Given the description of an element on the screen output the (x, y) to click on. 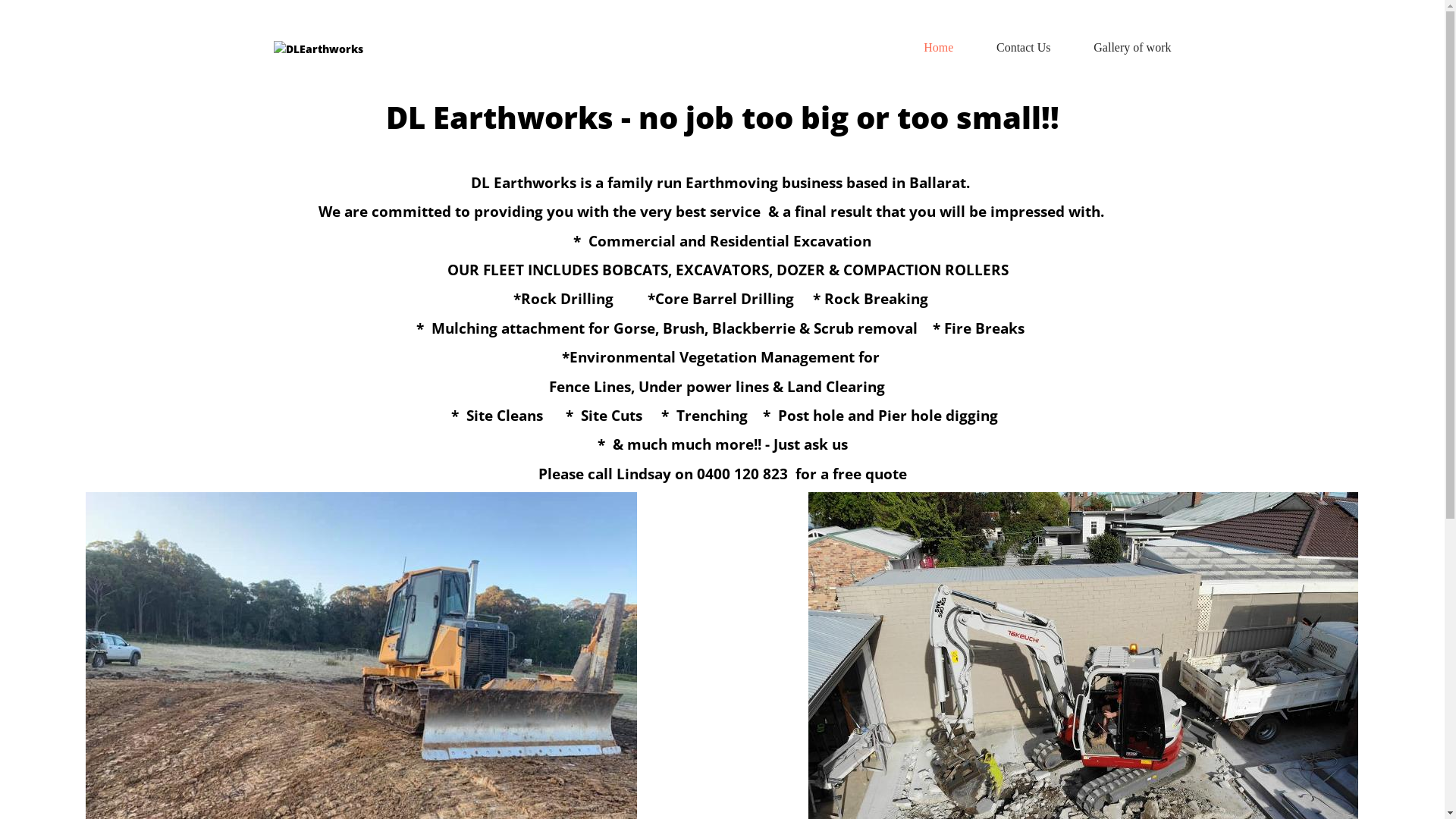
Home Element type: text (938, 46)
Contact Us Element type: text (1023, 46)
Gallery of work Element type: text (1131, 46)
